Given the description of an element on the screen output the (x, y) to click on. 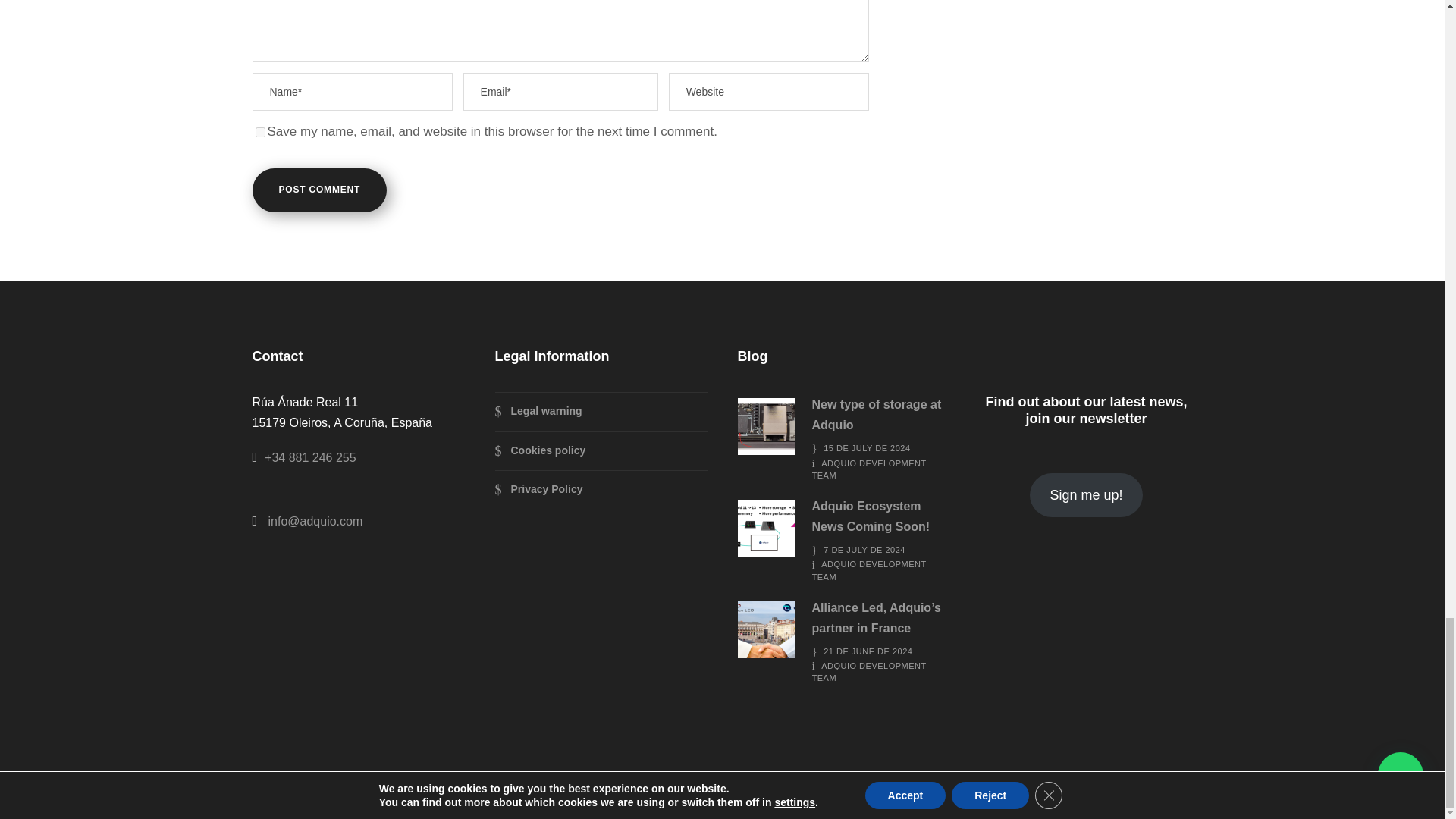
yes (259, 132)
Post Comment (319, 190)
